Given the description of an element on the screen output the (x, y) to click on. 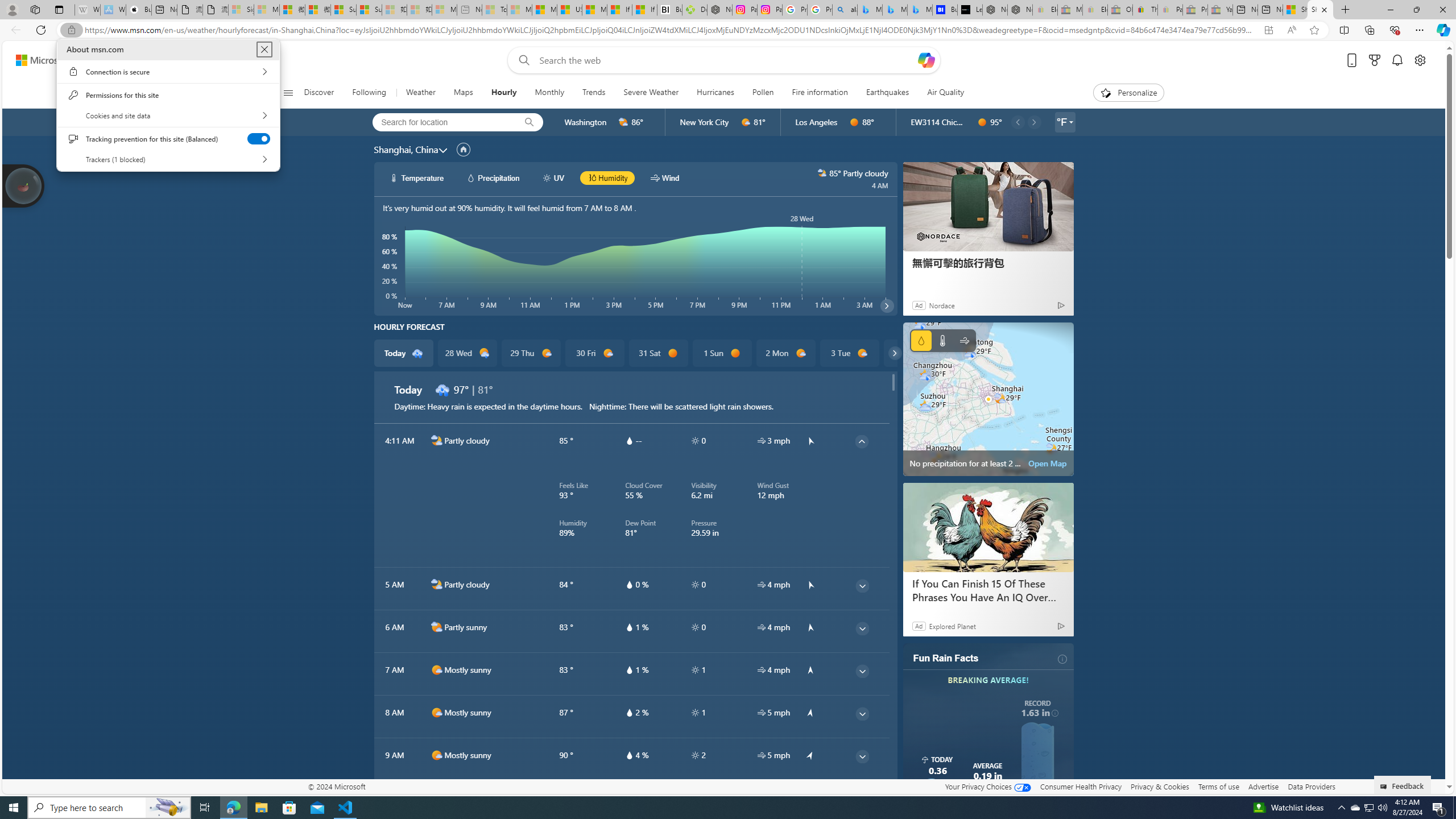
hourlyTable/drop (628, 755)
Earthquakes (888, 92)
Personalize (1128, 92)
hourlyChart/precipitationWhite Precipitation (493, 178)
Severe Weather (651, 92)
Marine life - MSN - Sleeping (519, 9)
hourlyChart/temperatureWhite (394, 177)
Wikipedia - Sleeping (86, 9)
Nordace - Nordace Edin Collection (718, 9)
